Given the description of an element on the screen output the (x, y) to click on. 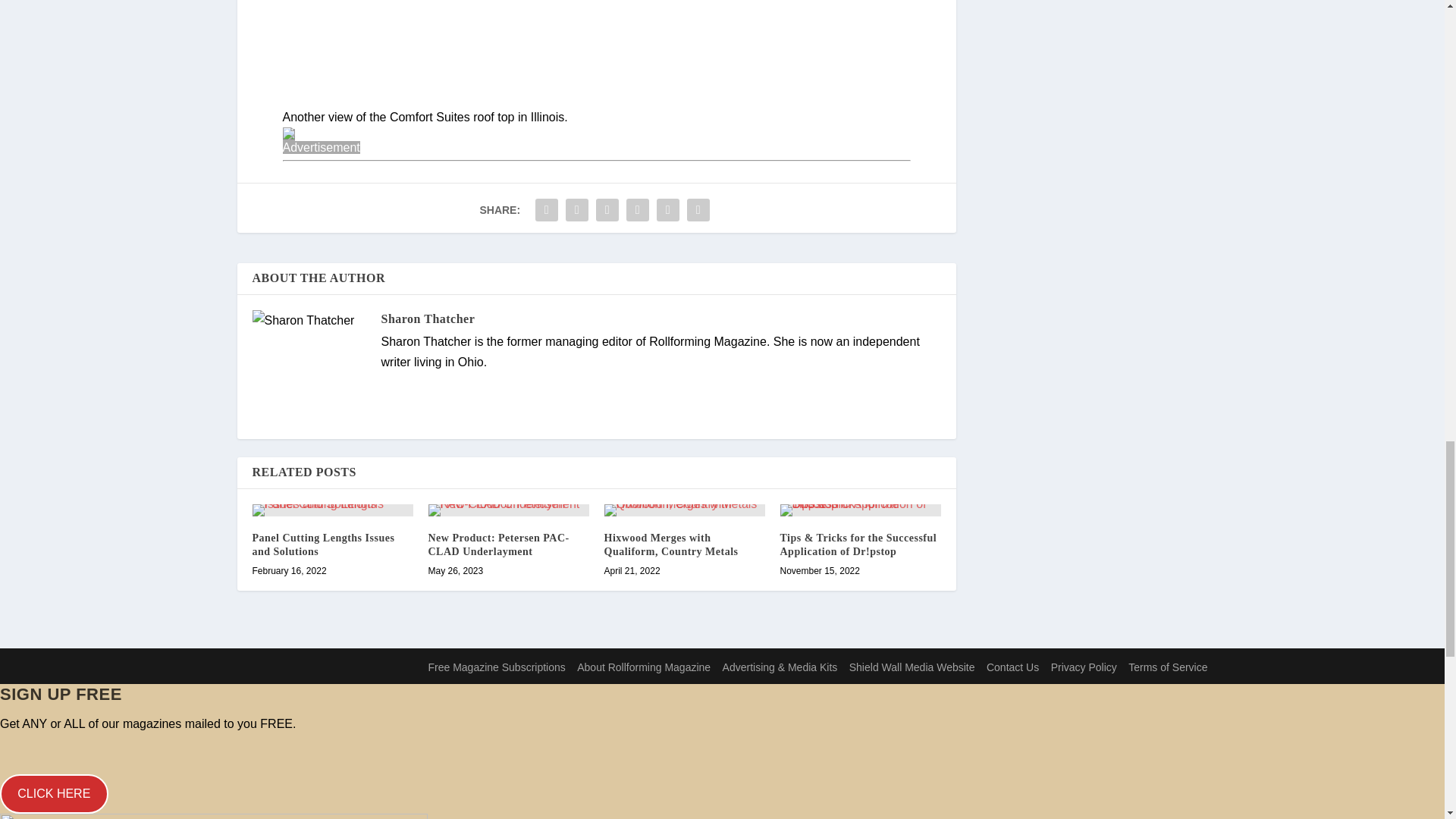
View all posts by Sharon Thatcher (427, 318)
Panel Cutting Lengths Issues and Solutions (331, 509)
Advertisement (596, 156)
New Product: Petersen PAC-CLAD Underlayment (508, 509)
